Given the description of an element on the screen output the (x, y) to click on. 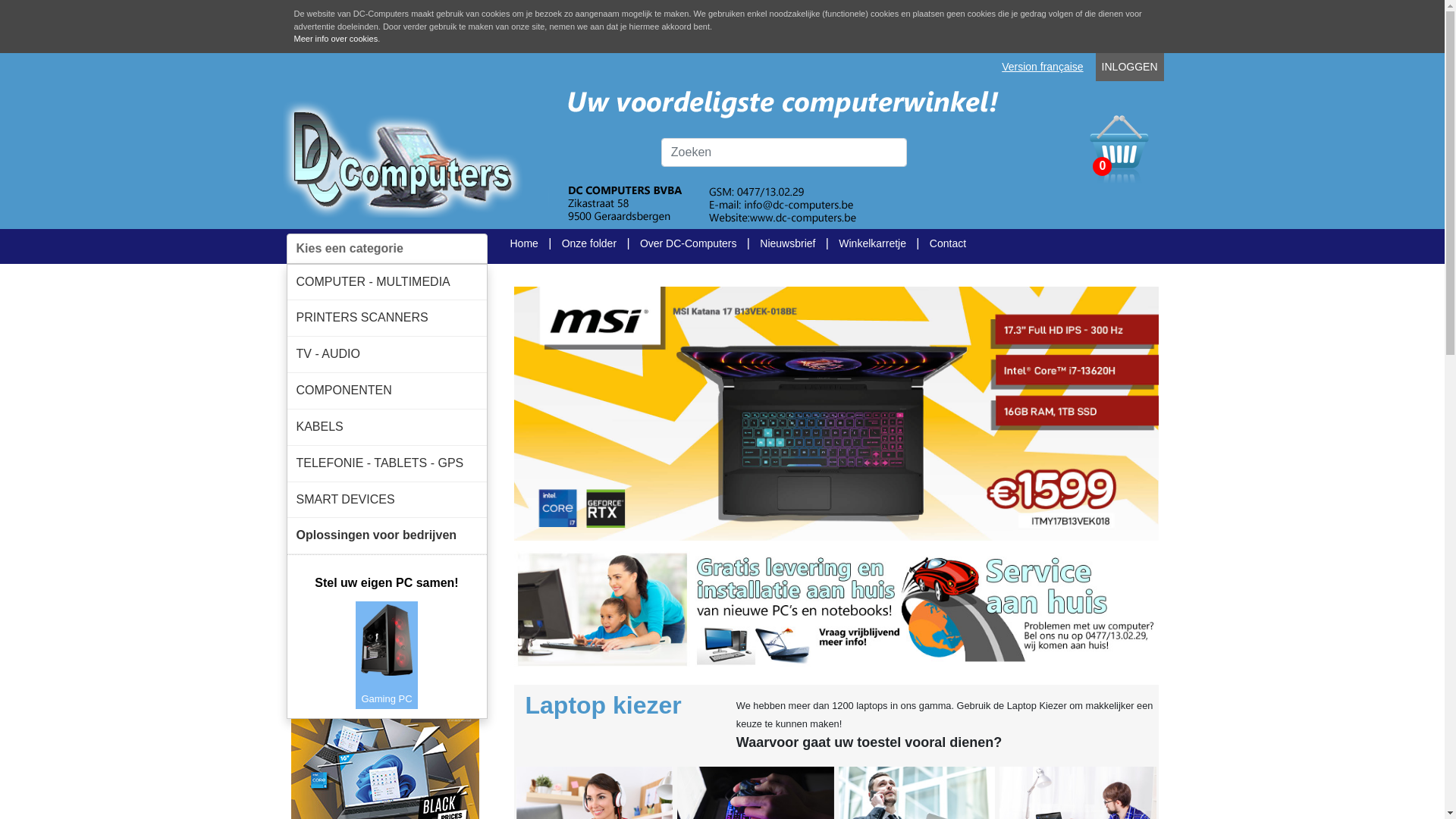
PRINTERS SCANNERS Element type: text (386, 317)
Kies een categorie Element type: text (386, 248)
TELEFONIE - TABLETS - GPS Element type: text (386, 463)
Oplossingen voor bedrijven Element type: text (386, 535)
Meer info over cookies Element type: text (336, 38)
Gaming PC Element type: text (386, 654)
Contact Element type: text (947, 242)
Winkelkarretje Element type: text (872, 242)
TV - AUDIO Element type: text (386, 354)
KABELS Element type: text (386, 427)
Over DC-Computers Element type: text (688, 242)
SMART DEVICES Element type: text (386, 499)
COMPUTER - MULTIMEDIA Element type: text (386, 281)
Nieuwsbrief Element type: text (787, 242)
COMPONENTEN Element type: text (386, 390)
Home Element type: text (523, 242)
Onze folder Element type: text (588, 242)
